Given the description of an element on the screen output the (x, y) to click on. 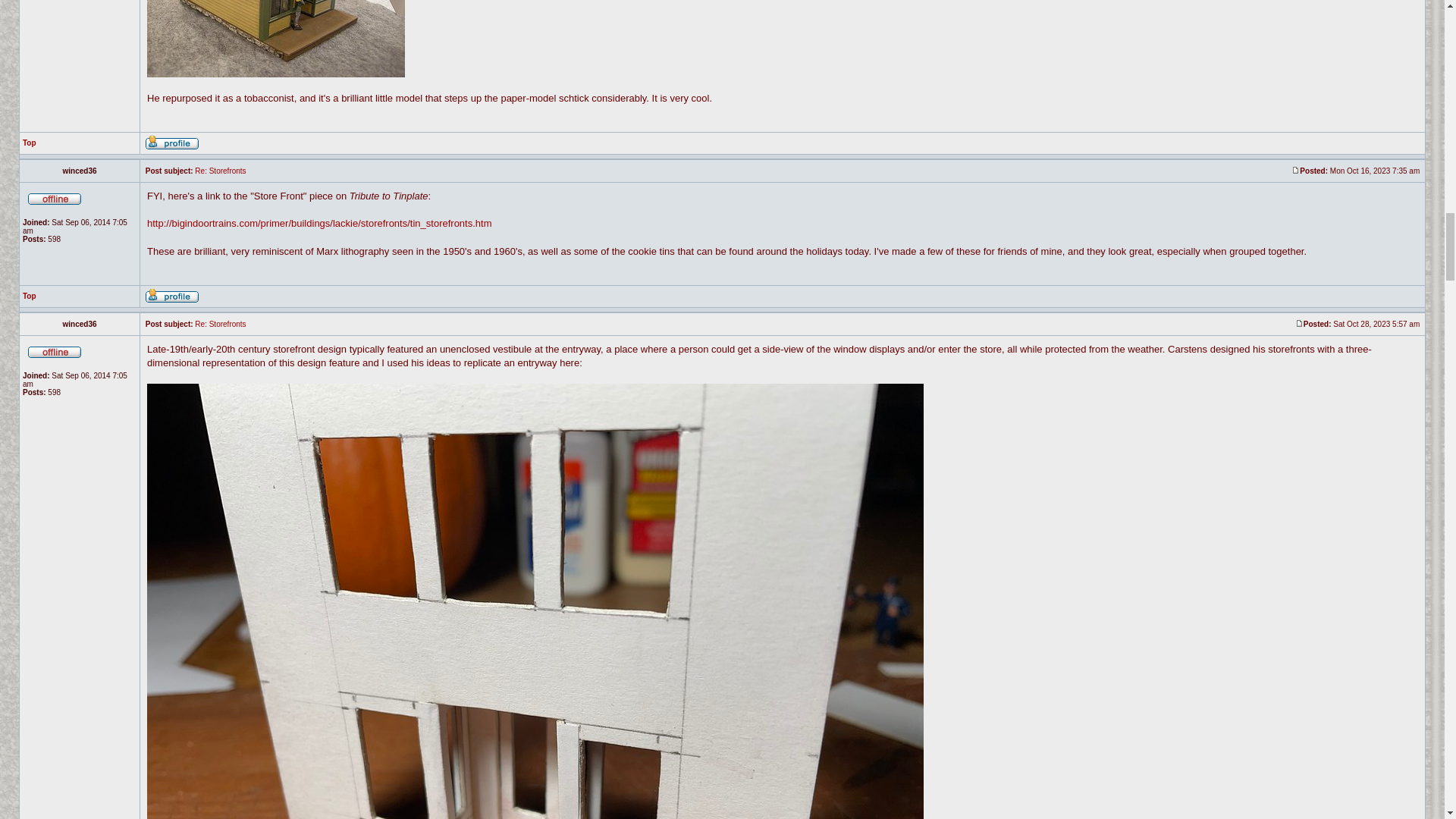
Re: Storefronts (220, 171)
Top (29, 295)
Offline (54, 197)
Profile (171, 142)
Top (29, 142)
Offline (54, 350)
Profile (171, 295)
Re: Storefronts (220, 324)
Post (1295, 170)
Post (1299, 323)
